Given the description of an element on the screen output the (x, y) to click on. 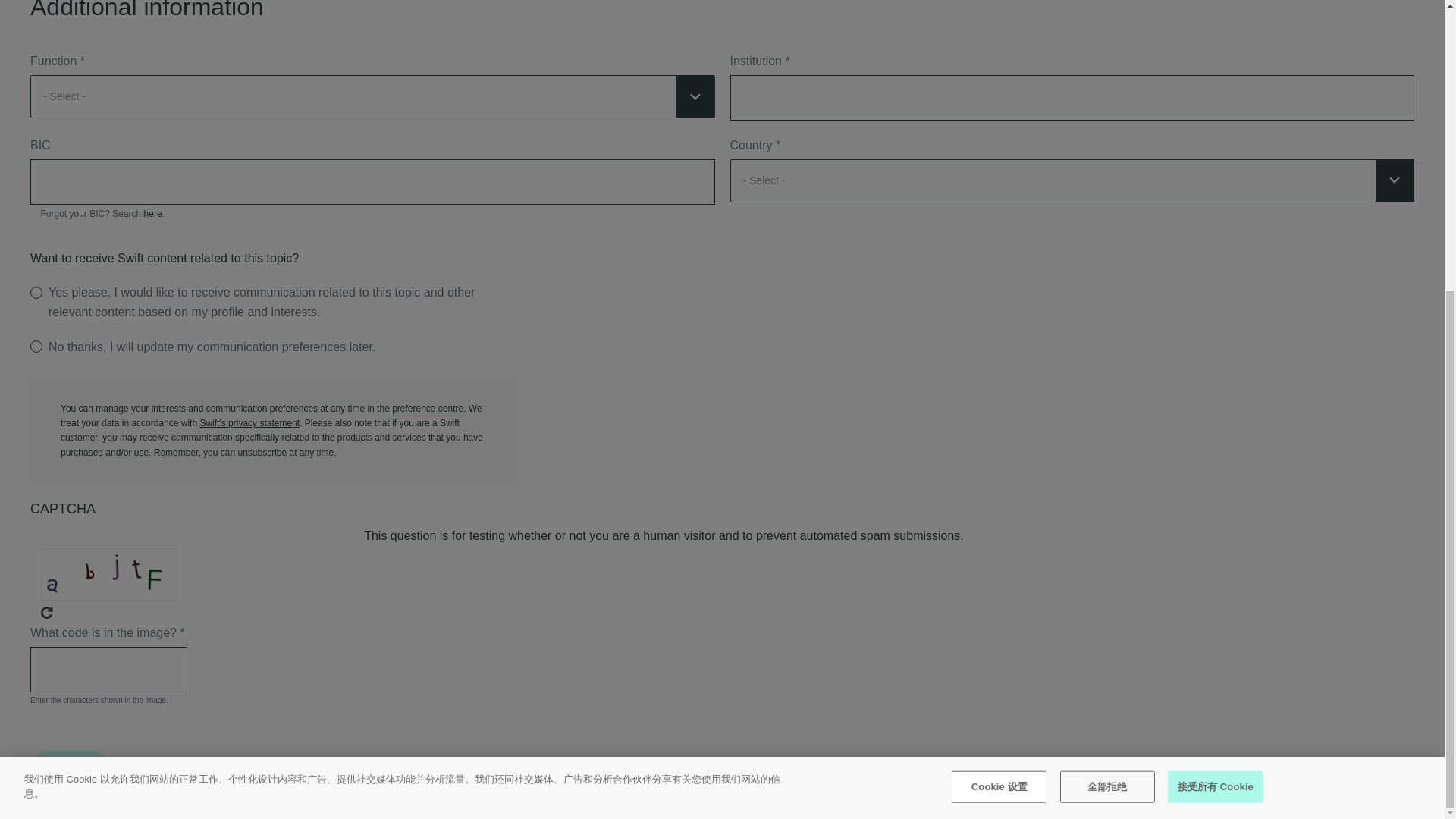
Get new captcha! (46, 612)
here (152, 213)
Submit (70, 769)
Swift's privacy statement (249, 422)
Submit (70, 769)
Image CAPTCHA (108, 574)
Generate new CAPTCHA image (196, 612)
preference centre (427, 408)
